Given the description of an element on the screen output the (x, y) to click on. 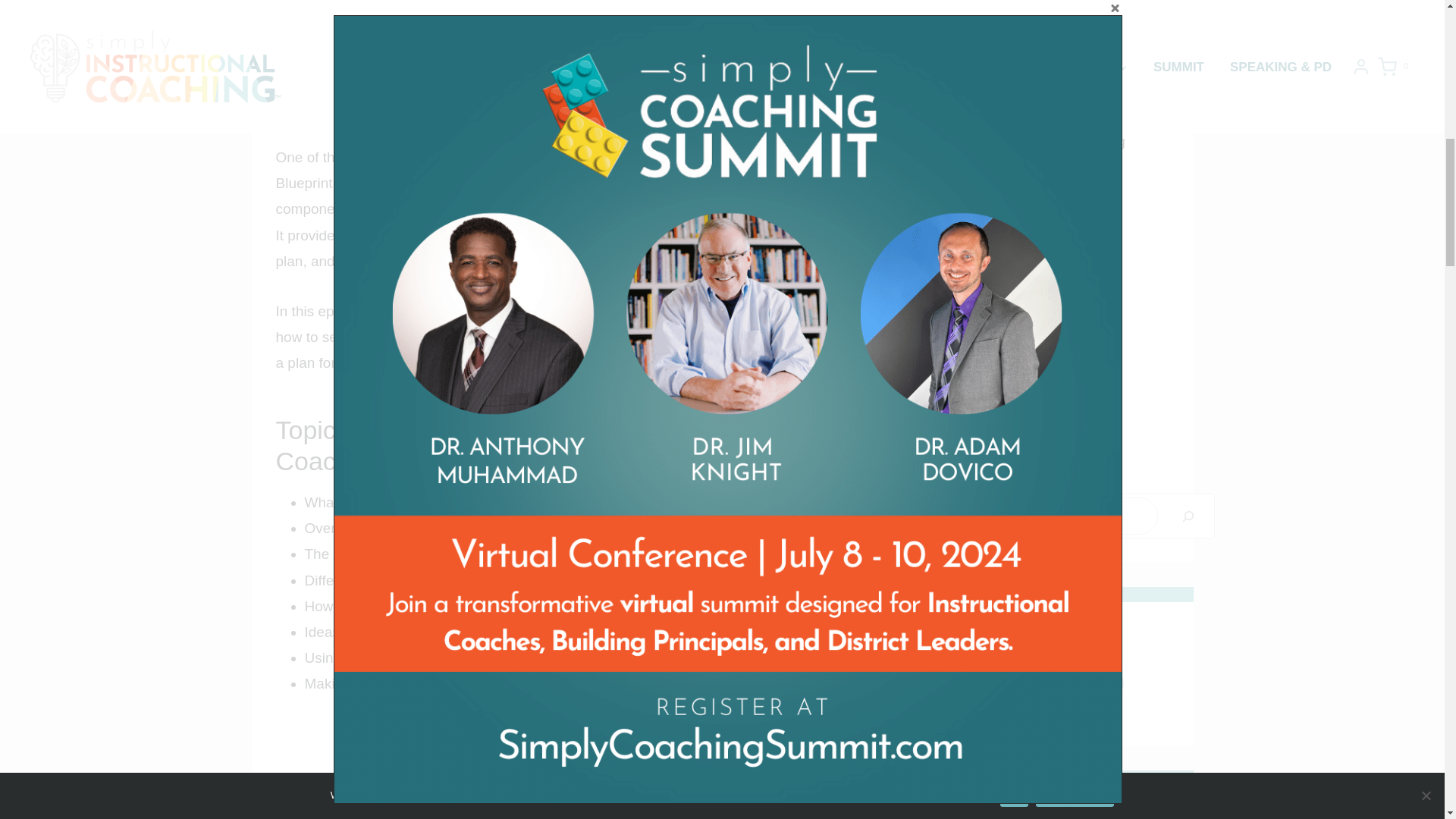
Simple Blueprint for Instructional Coaching (1057, 128)
VIEW TRANSCRIPT (569, 737)
Uncategorized (1034, 191)
